Given the description of an element on the screen output the (x, y) to click on. 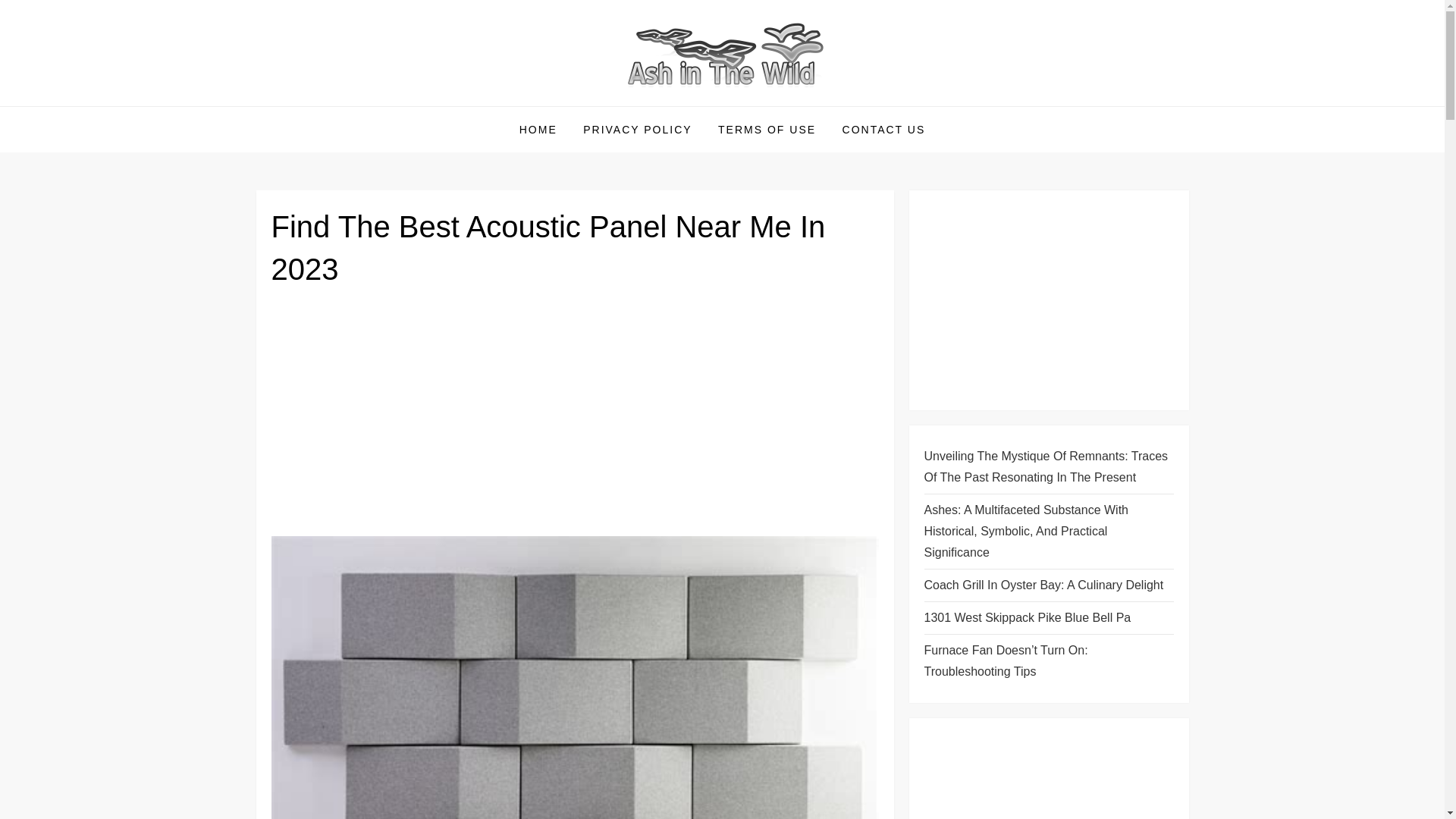
CONTACT US (884, 129)
Advertisement (1048, 776)
TERMS OF USE (766, 129)
Advertisement (574, 418)
Coach Grill In Oyster Bay: A Culinary Delight (1043, 585)
HOME (538, 129)
Advertisement (1048, 299)
1301 West Skippack Pike Blue Bell Pa (1027, 617)
PRIVACY POLICY (637, 129)
Ash in The Wild (361, 105)
